Given the description of an element on the screen output the (x, y) to click on. 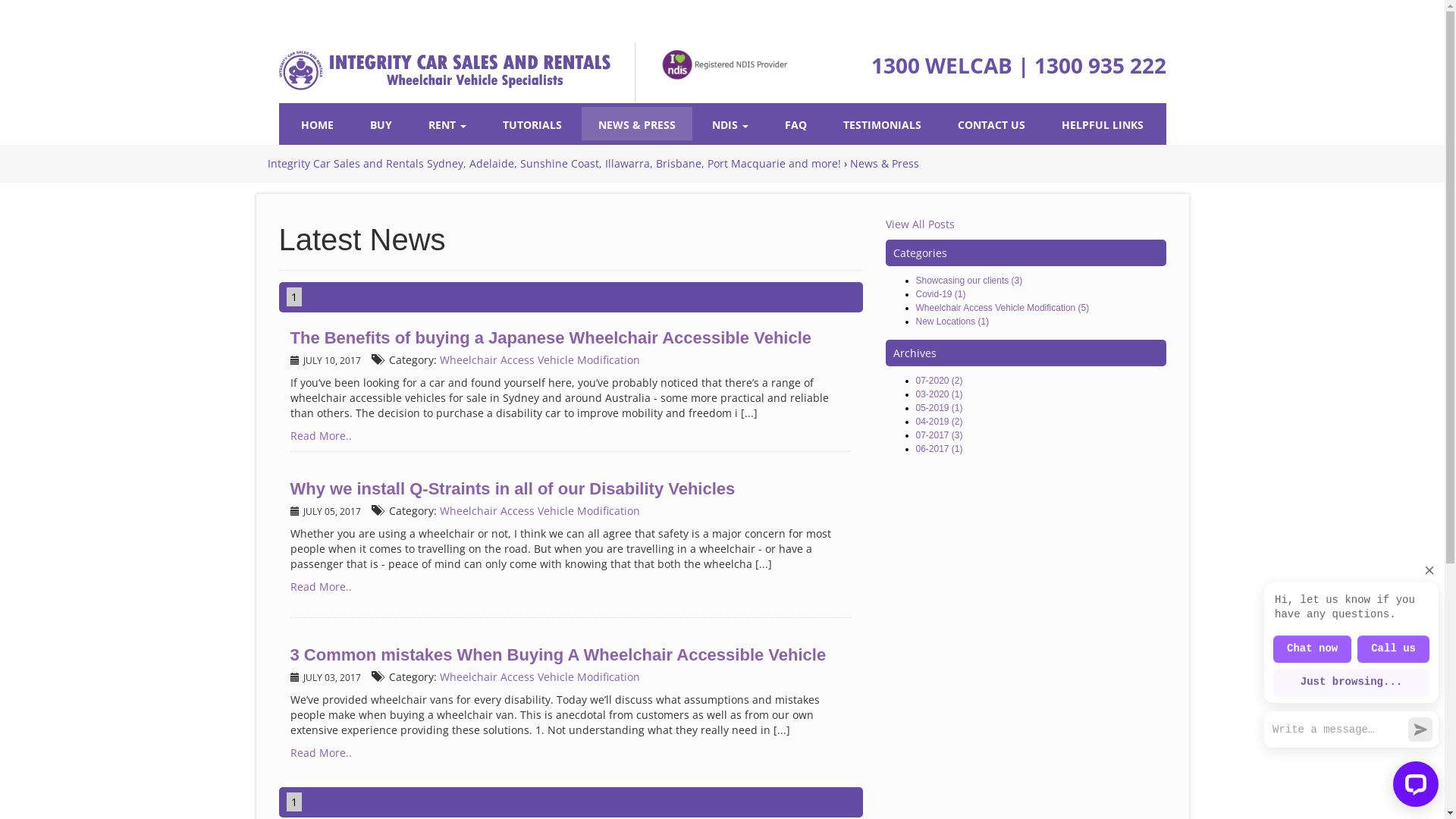
Covid-19 (1) Element type: text (941, 293)
Read More.. Element type: text (320, 586)
Wheelchair Access Vehicle Modification Element type: text (539, 676)
1 Element type: text (294, 296)
News & Press Element type: text (883, 161)
TUTORIALS Element type: text (532, 123)
BUY Element type: text (380, 123)
07-2017 (3) Element type: text (939, 434)
06-2017 (1) Element type: text (939, 448)
1 Element type: text (294, 801)
RENT Element type: text (447, 123)
New Locations (1) Element type: text (952, 321)
Showcasing our clients (3) Element type: text (969, 280)
FAQ Element type: text (795, 123)
HOME Element type: text (317, 123)
03-2020 (1) Element type: text (939, 394)
04-2019 (2) Element type: text (939, 421)
NDIS Element type: text (730, 123)
05-2019 (1) Element type: text (939, 407)
Read More.. Element type: text (320, 752)
NEWS & PRESS Element type: text (636, 123)
07-2020 (2) Element type: text (939, 380)
CONTACT US Element type: text (991, 123)
Wheelchair Access Vehicle Modification Element type: text (539, 359)
1300 WELCAB | 1300 935 222 Element type: text (1017, 64)
Read More.. Element type: text (320, 435)
TESTIMONIALS Element type: text (882, 123)
View All Posts Element type: text (919, 223)
HELPFUL LINKS Element type: text (1102, 123)
Wheelchair Access Vehicle Modification (5) Element type: text (1002, 307)
Wheelchair Access Vehicle Modification Element type: text (539, 510)
Why we install Q-Straints in all of our Disability Vehicles Element type: text (511, 488)
